Given the description of an element on the screen output the (x, y) to click on. 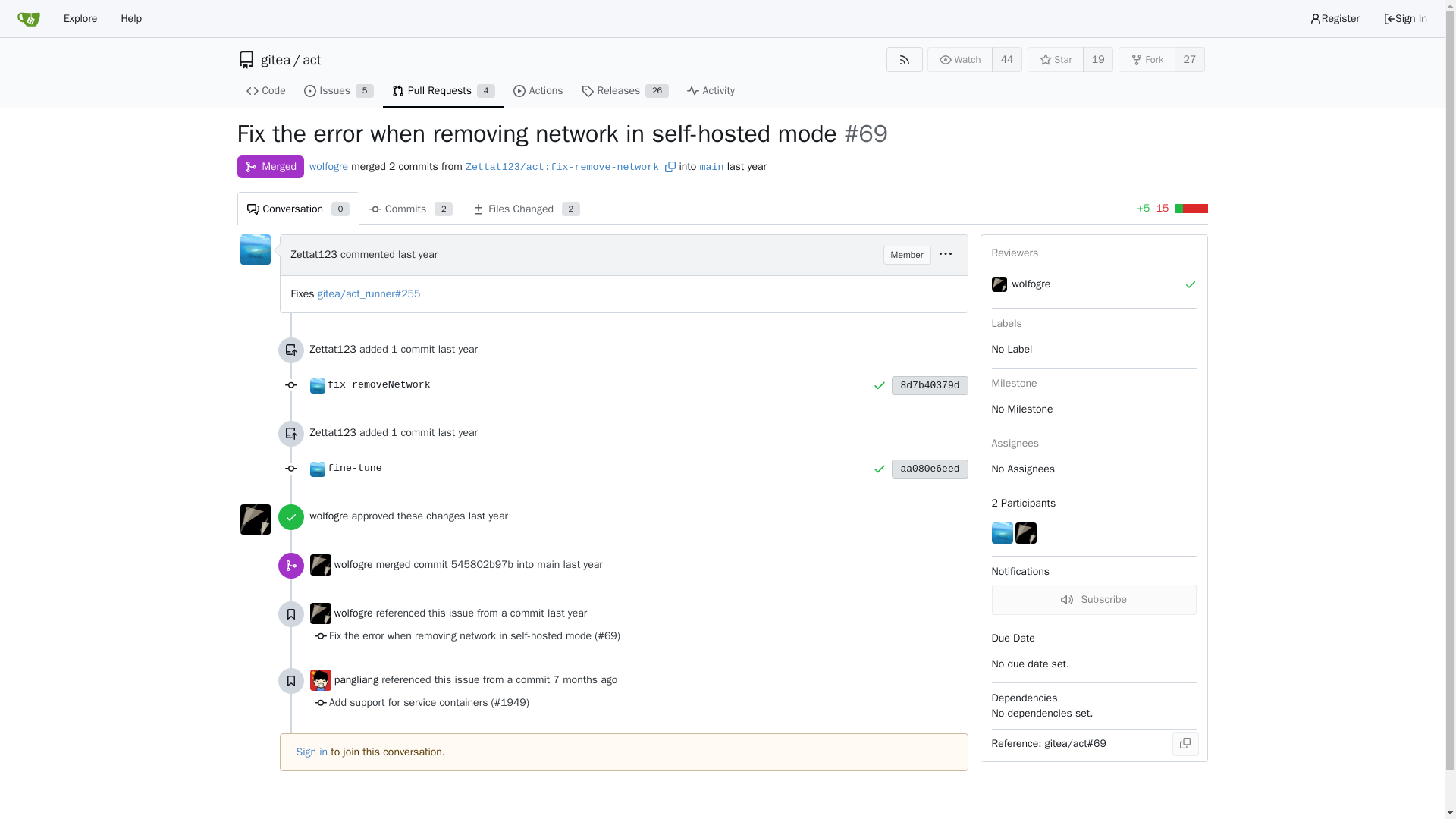
Watch (411, 207)
Jason Song (959, 59)
Jason Song (319, 564)
wolfogre (319, 613)
main (327, 165)
19 (711, 166)
27 (1098, 59)
Sign In (1189, 59)
